Given the description of an element on the screen output the (x, y) to click on. 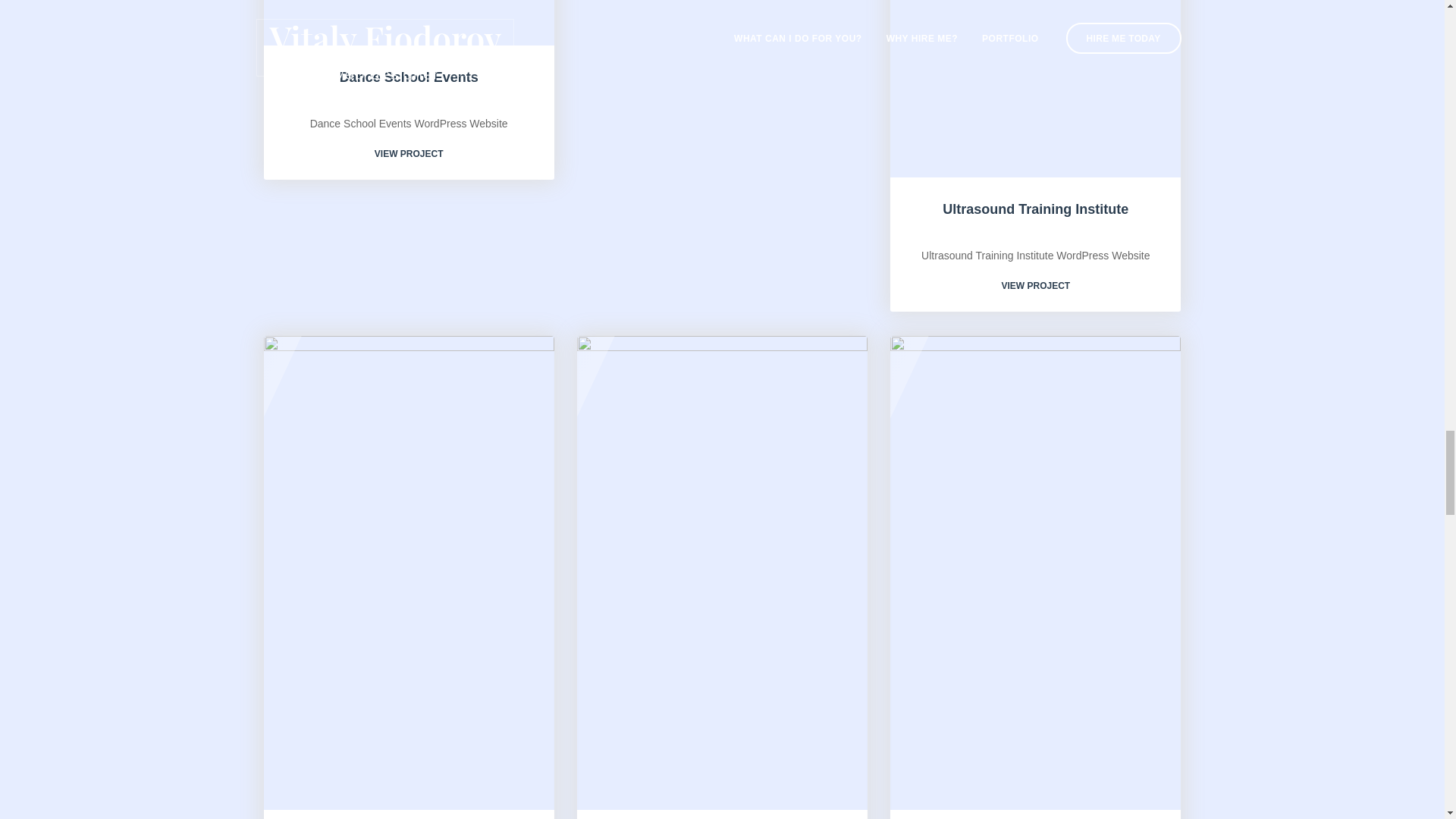
VIEW PROJECT (409, 153)
VIEW PROJECT (1035, 285)
See the project (409, 153)
